Given the description of an element on the screen output the (x, y) to click on. 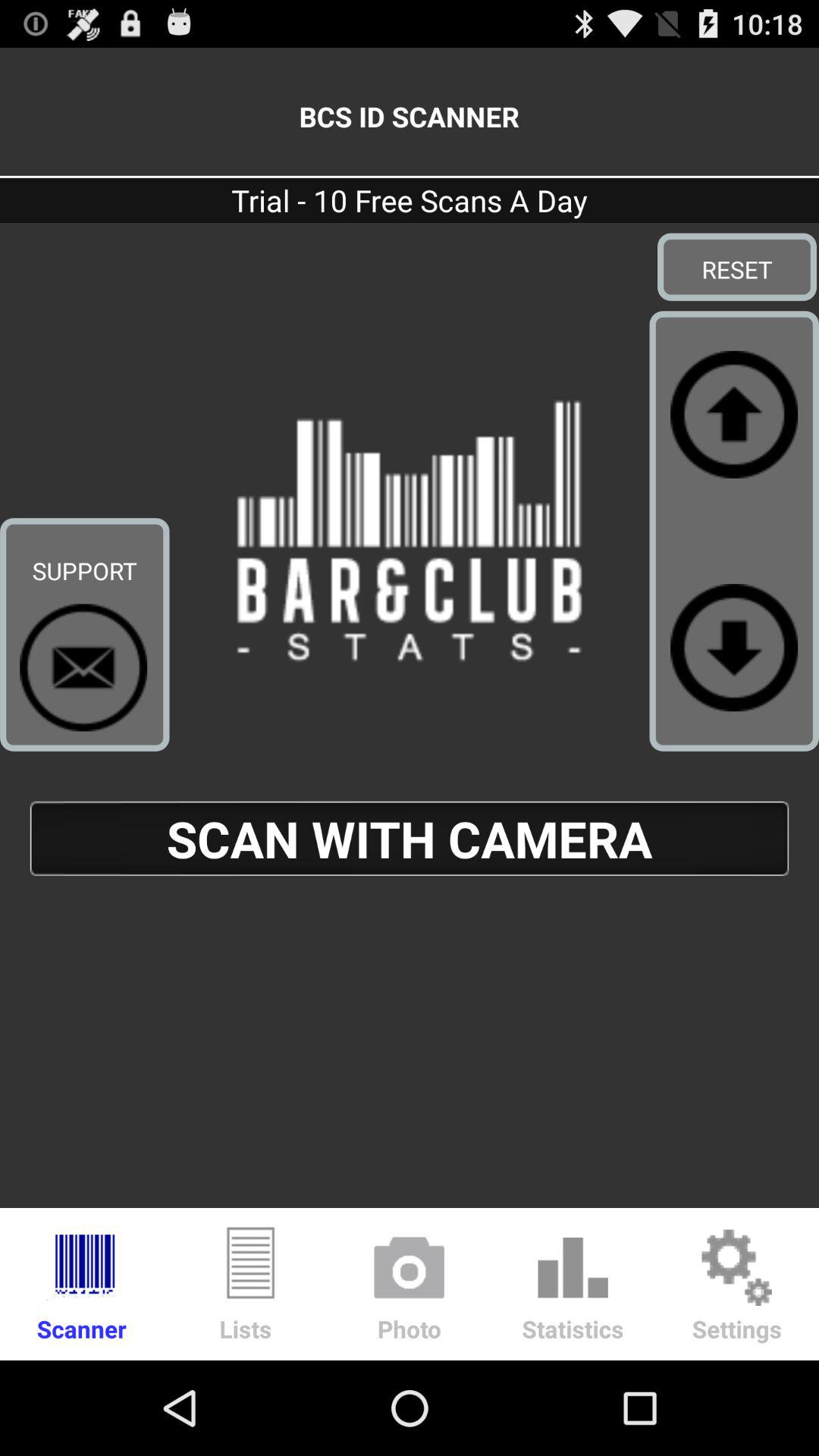
send message to support (83, 667)
